Given the description of an element on the screen output the (x, y) to click on. 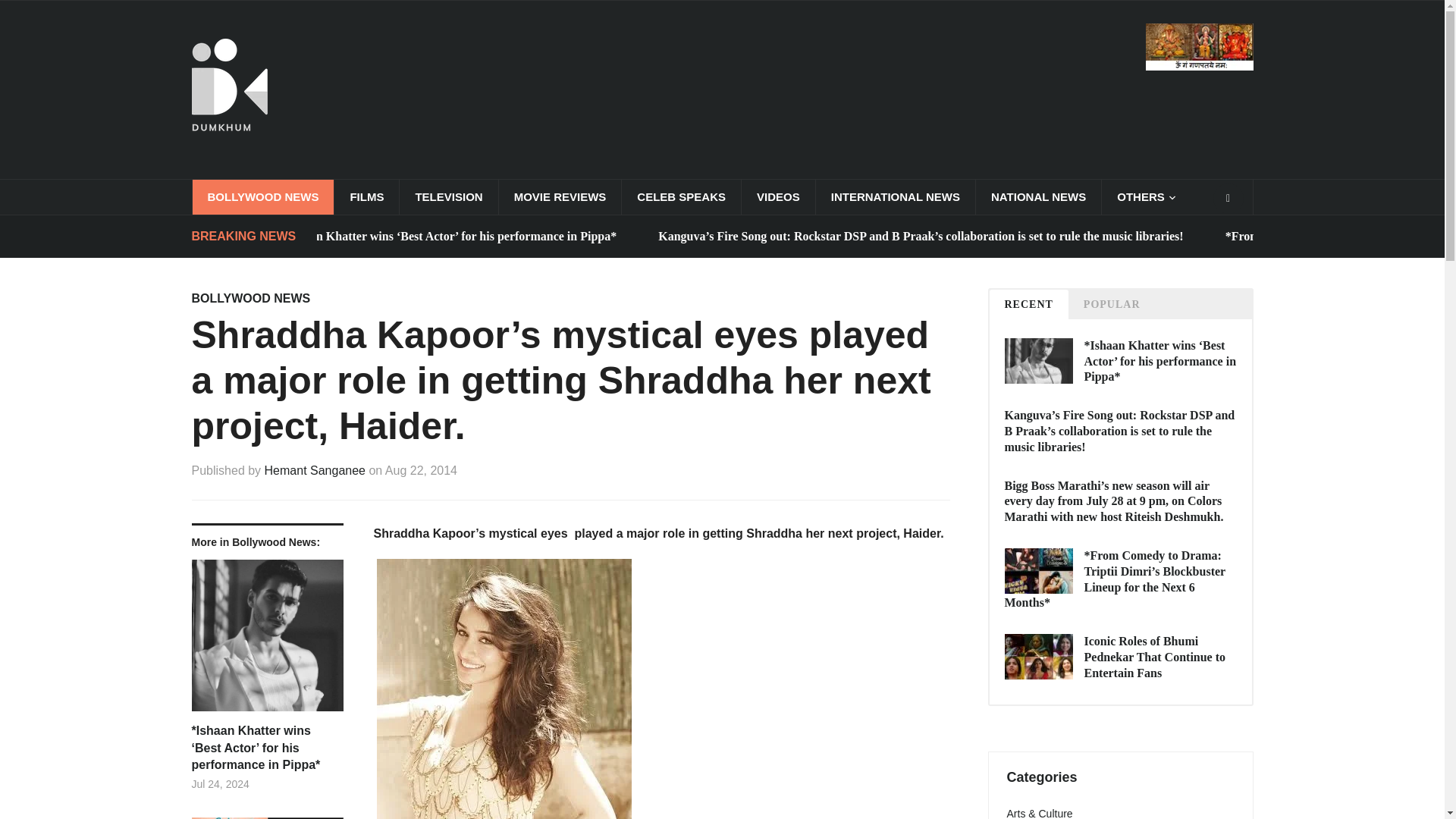
Posts by Hemant Sanganee (314, 470)
Shraddha Kapoor.--4 (504, 688)
Recent (1027, 304)
